Given the description of an element on the screen output the (x, y) to click on. 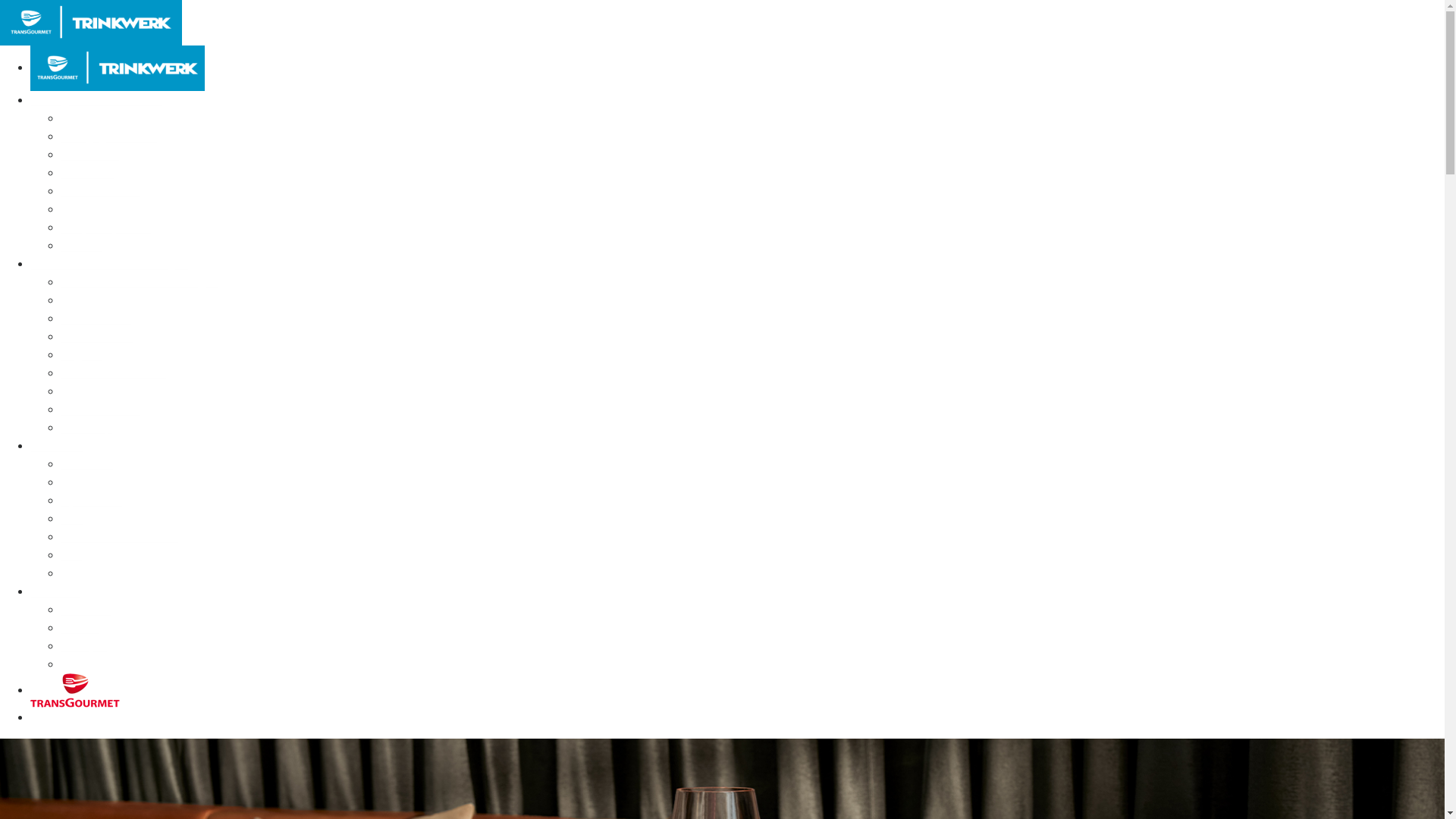
Erfolgsgeschichte Element type: text (108, 135)
Sortiment Element type: text (86, 463)
Transgourmet Trinkwerk Element type: text (95, 99)
Rezepte Element type: text (83, 645)
Webshop Element type: text (85, 426)
Kunde werden Element type: text (99, 190)
Spirituosen Element type: text (90, 499)
Druckservice Element type: text (95, 317)
Events Element type: text (78, 627)
Kontakt Element type: text (80, 244)
Ansprechpartner Element type: text (105, 226)
Logistik Element type: text (80, 354)
Produktion Element type: text (89, 153)
Sortiment Element type: text (55, 445)
Standorte Element type: text (86, 172)
Automatenservice Element type: text (108, 390)
Aktuelles Element type: text (84, 608)
Service und Dienstleistungen Element type: text (108, 263)
Trinkwerk Akademie Element type: text (114, 299)
Bier Element type: text (70, 517)
Transgourmet Trinkwerk Element type: text (125, 117)
Downloads Element type: text (90, 663)
Aktuelles Element type: text (54, 590)
Service und Dienstleistungen Element type: text (138, 281)
Keli Element type: text (70, 554)
Newsletter-Anmeldung Element type: text (121, 208)
Schankservice Element type: text (99, 408)
Wein & Schaumwein Element type: text (116, 481)
